Given the description of an element on the screen output the (x, y) to click on. 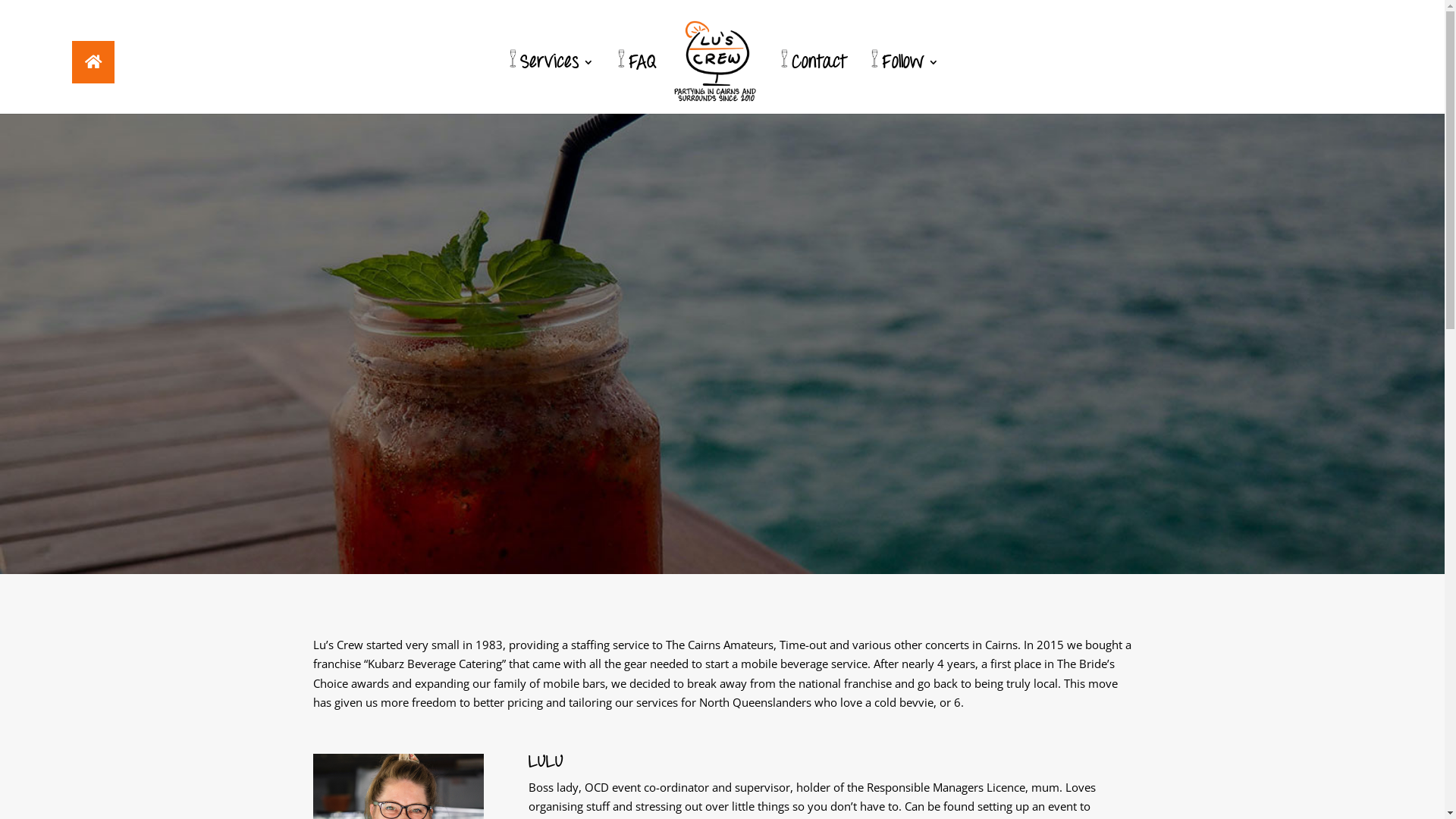
FAQ Element type: text (635, 81)
Follow Element type: text (902, 81)
Contact Element type: text (812, 81)
Services Element type: text (549, 81)
